Given the description of an element on the screen output the (x, y) to click on. 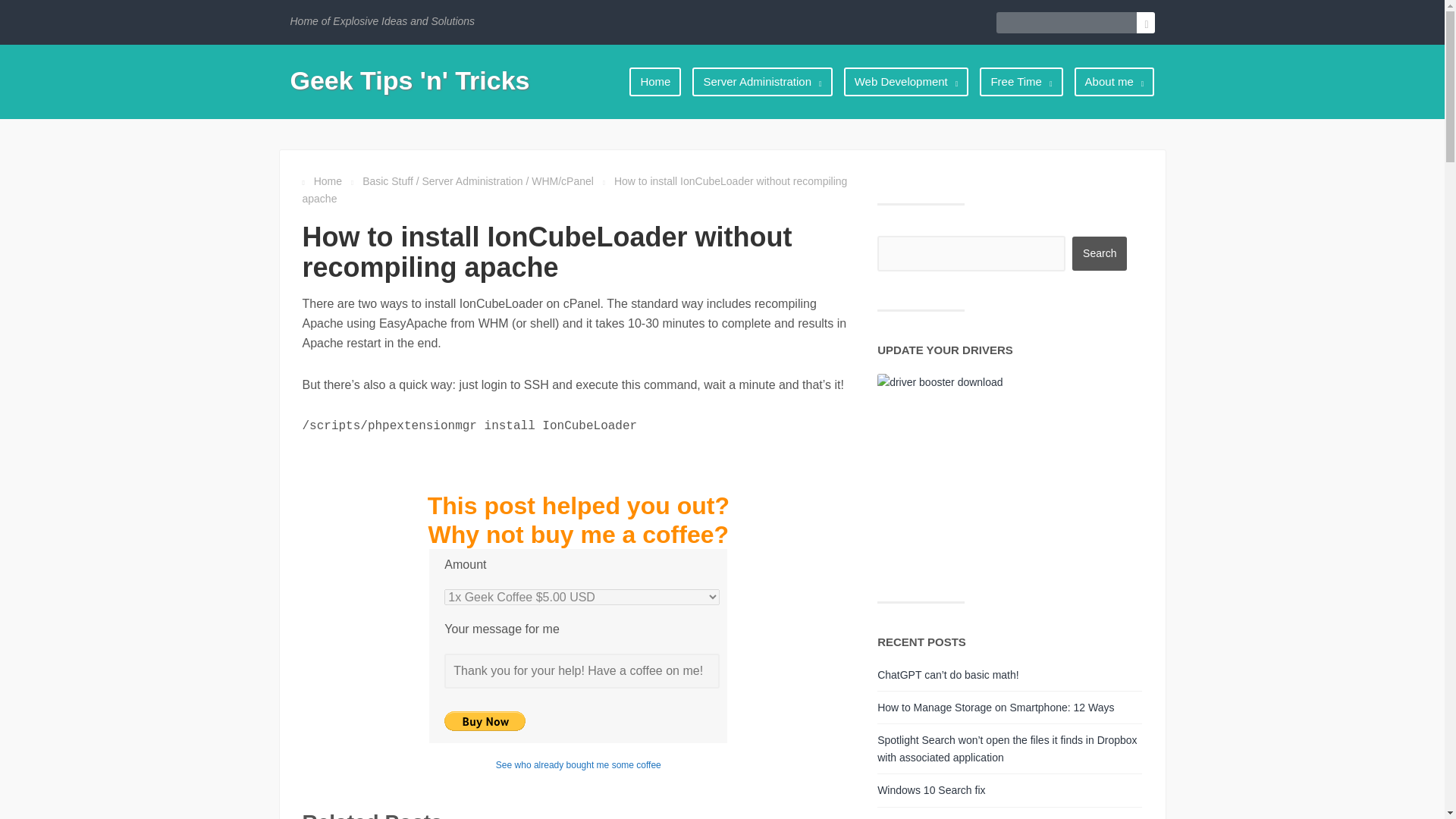
Free Time (1020, 81)
Basic Stuff (387, 181)
Search (1098, 253)
Search (1098, 253)
Web Development (906, 81)
Geek Tips 'n' Tricks (409, 80)
See who already bought me some coffee (578, 765)
Server Administration (762, 81)
driver booster download (972, 471)
Home (328, 181)
About me (1114, 81)
Server Administration (472, 181)
Home (654, 81)
